Given the description of an element on the screen output the (x, y) to click on. 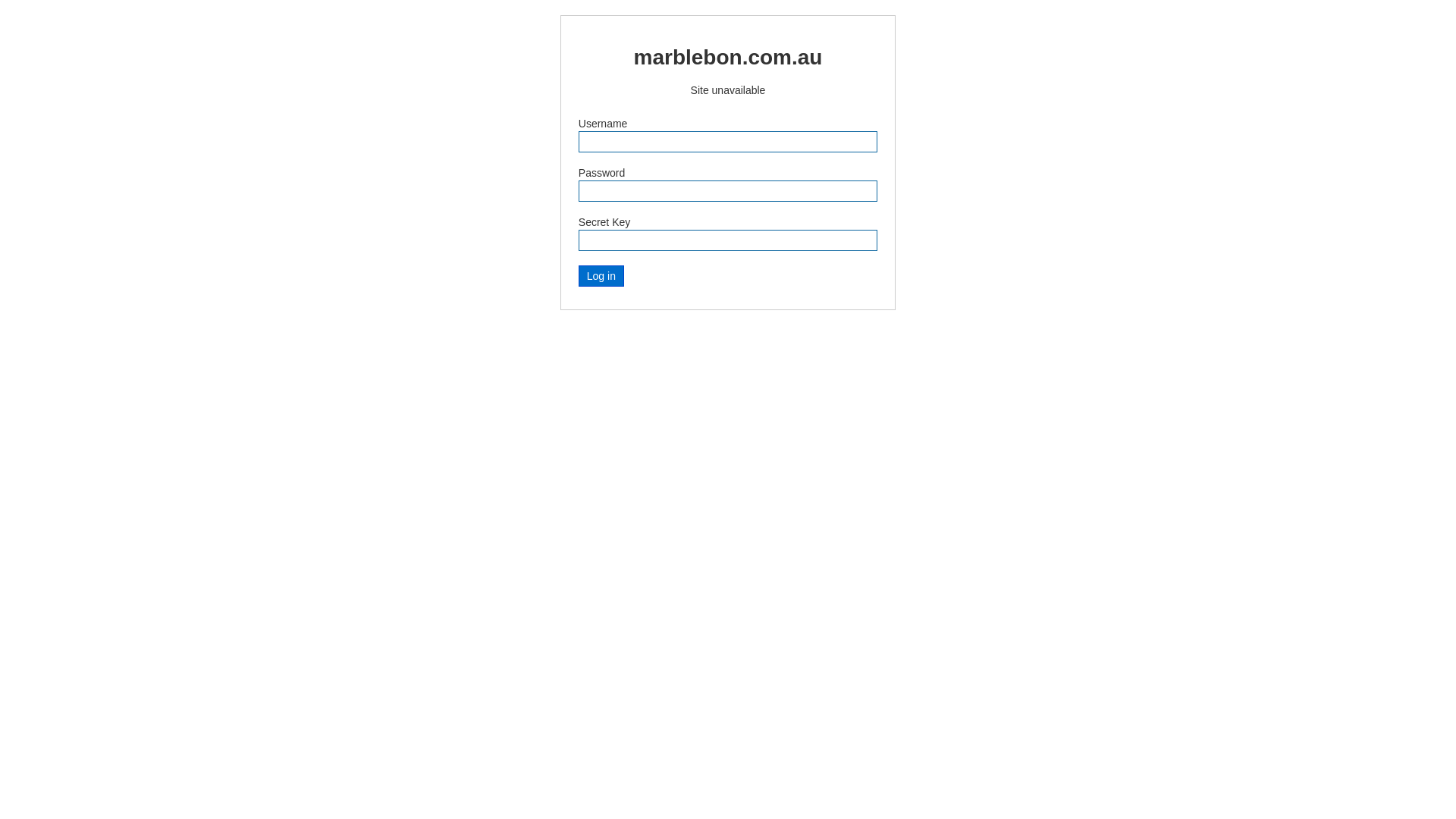
Log in Element type: text (601, 275)
